Given the description of an element on the screen output the (x, y) to click on. 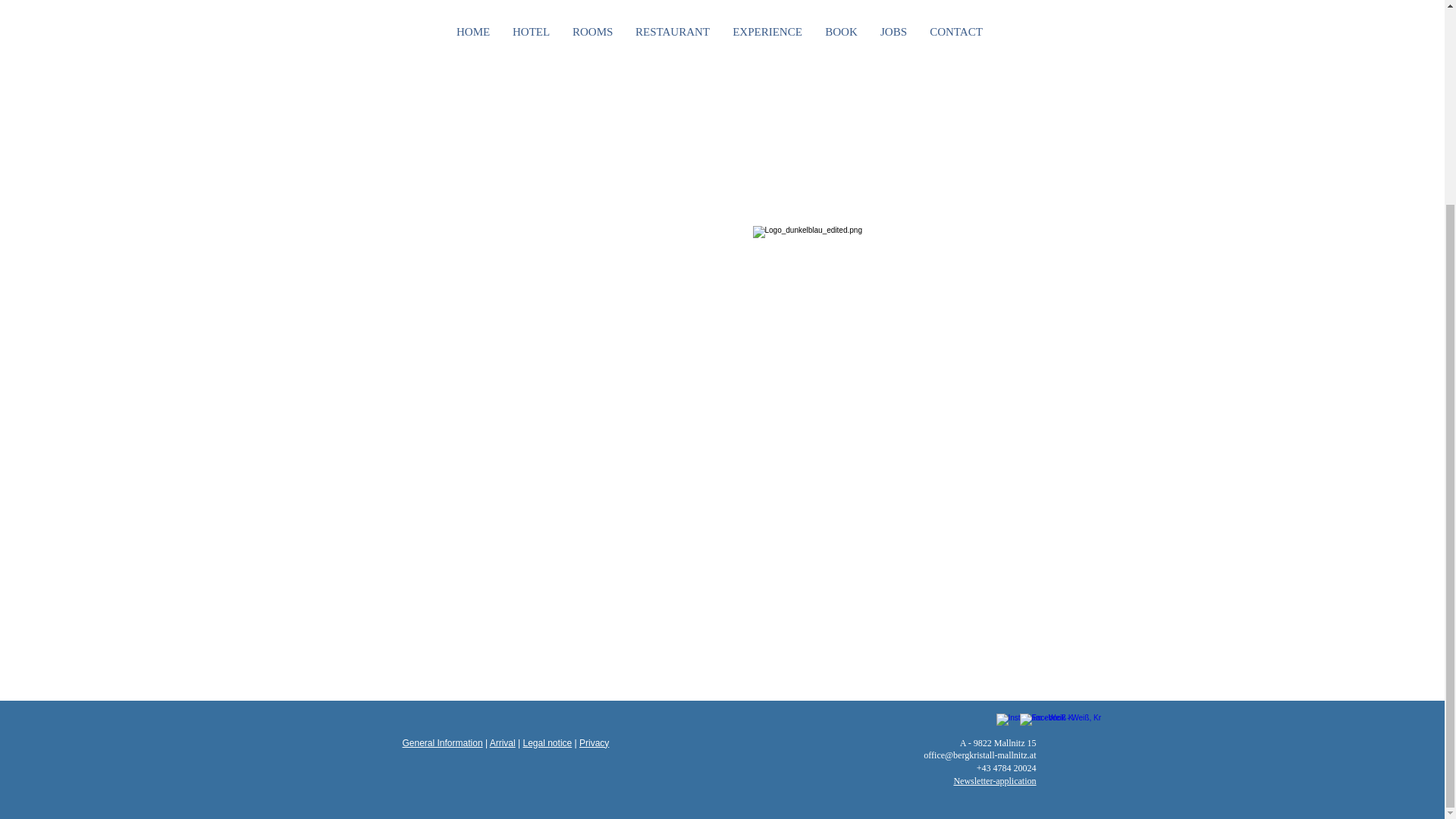
General Information (441, 742)
 A - 9822 Mallnitz 15 (997, 742)
Privacy (593, 742)
Legal notice (547, 742)
Newsletter-application (994, 780)
Arrival (502, 742)
